Given the description of an element on the screen output the (x, y) to click on. 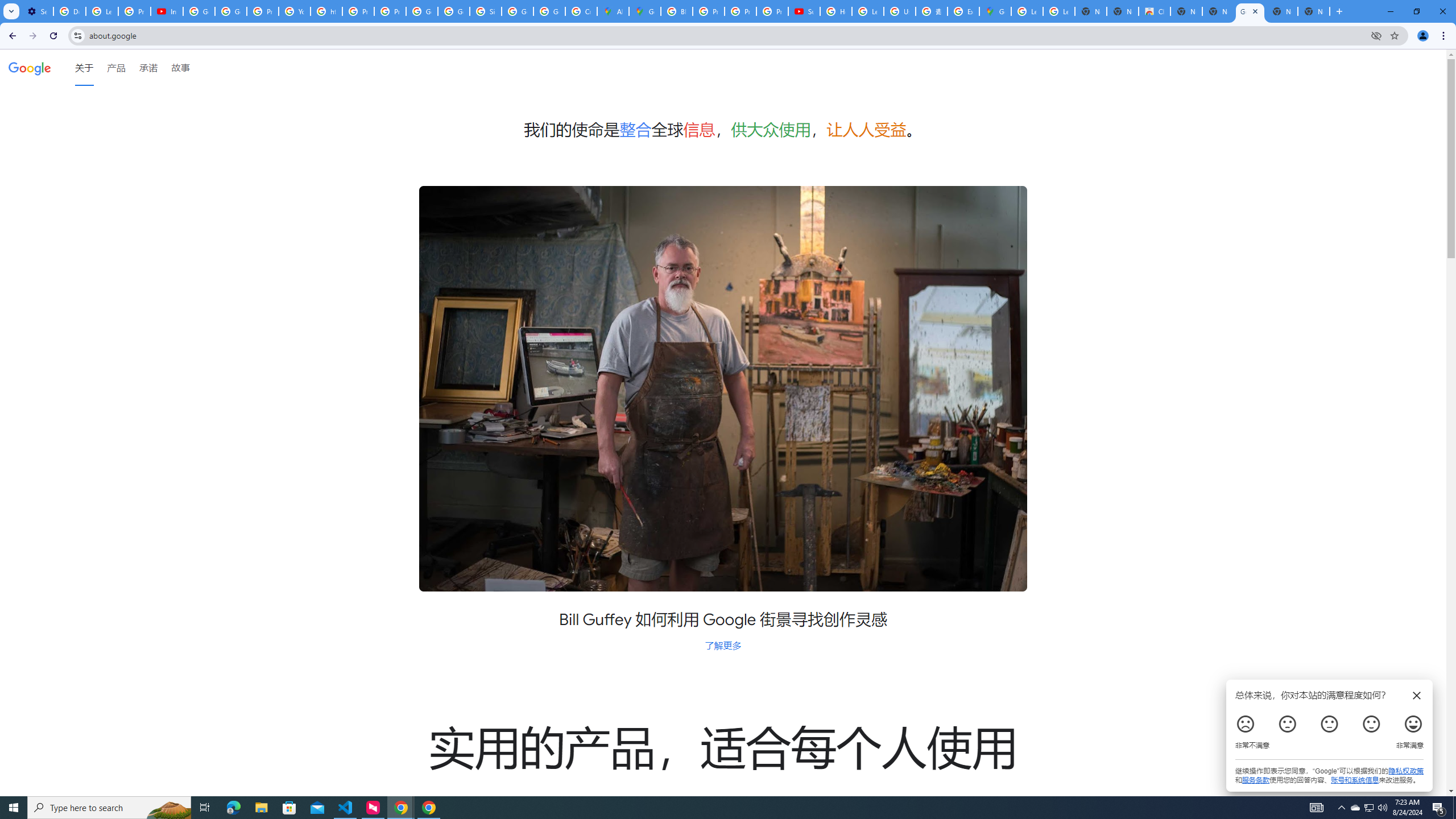
Subscriptions - YouTube (804, 11)
Blogger Policies and Guidelines - Transparency Center (676, 11)
Privacy Help Center - Policies Help (740, 11)
Sign in - Google Accounts (485, 11)
Settings - Customize profile (37, 11)
New Tab (1313, 11)
